Given the description of an element on the screen output the (x, y) to click on. 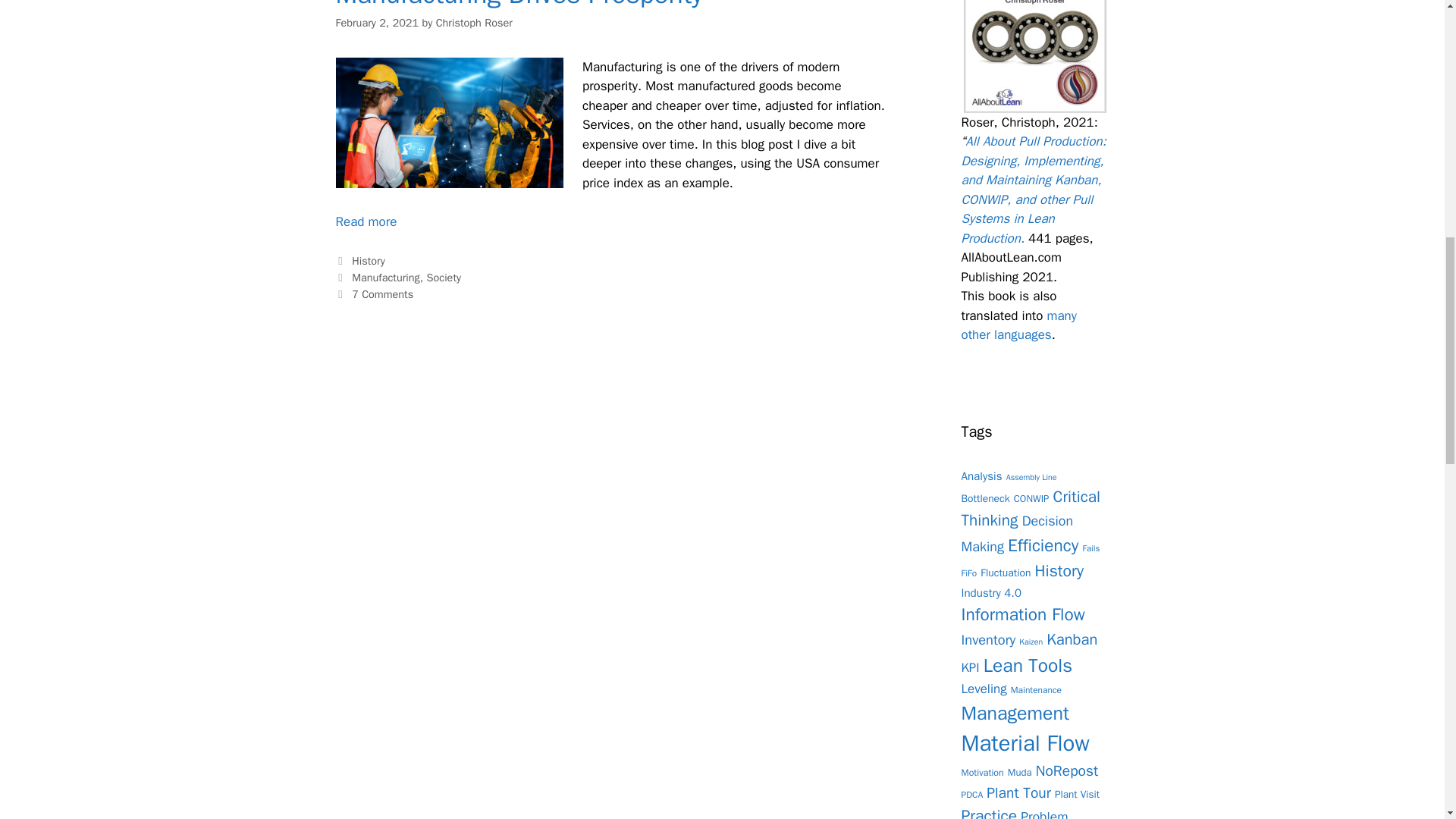
View all posts by Christoph Roser (473, 22)
Manufacturing Drives Prosperity (365, 221)
